Given the description of an element on the screen output the (x, y) to click on. 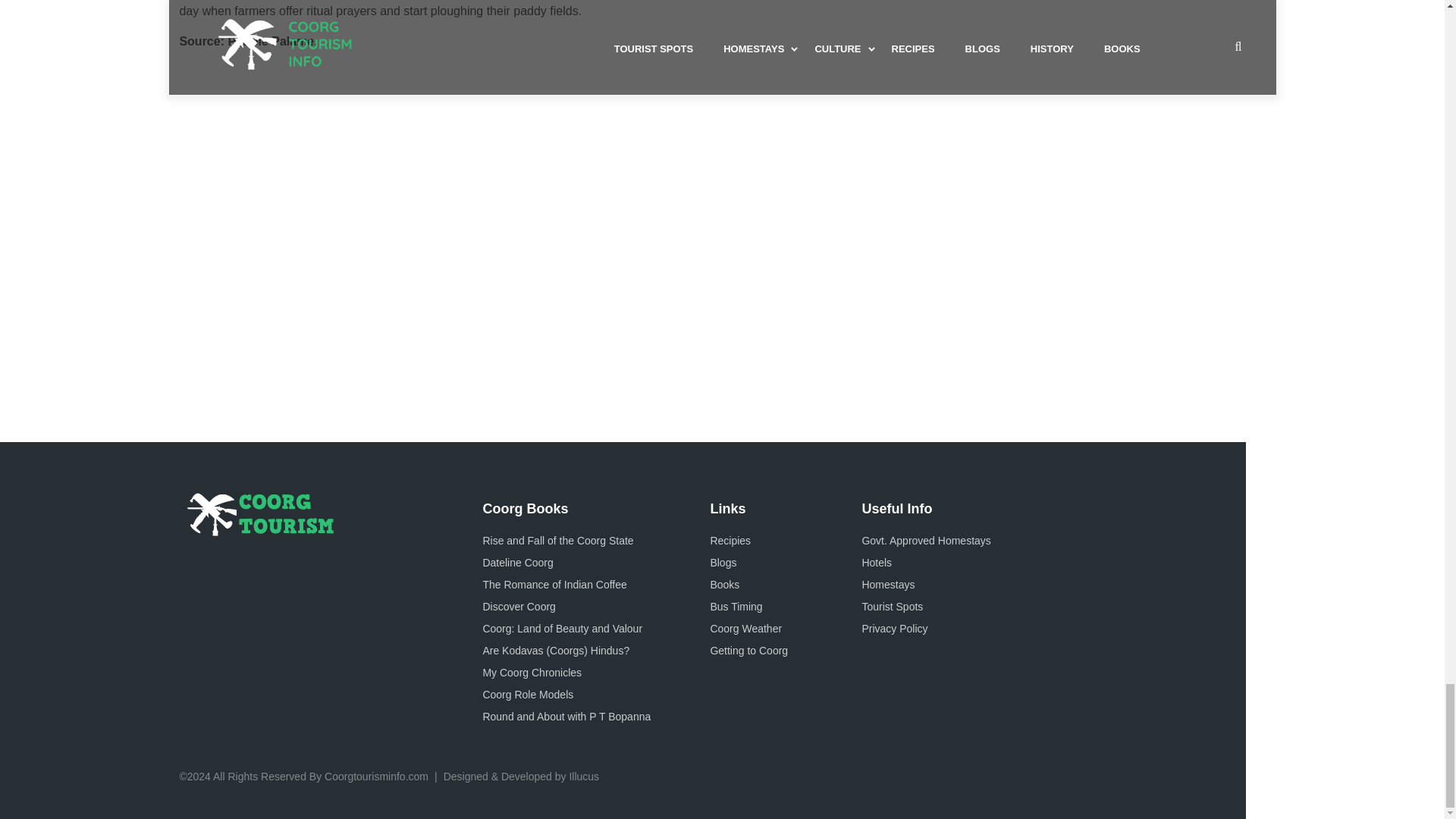
The Romance of Indian Coffee (553, 583)
Rise and Fall of the Coorg State (557, 539)
Discover Coorg (517, 606)
Dateline Coorg (517, 562)
